Given the description of an element on the screen output the (x, y) to click on. 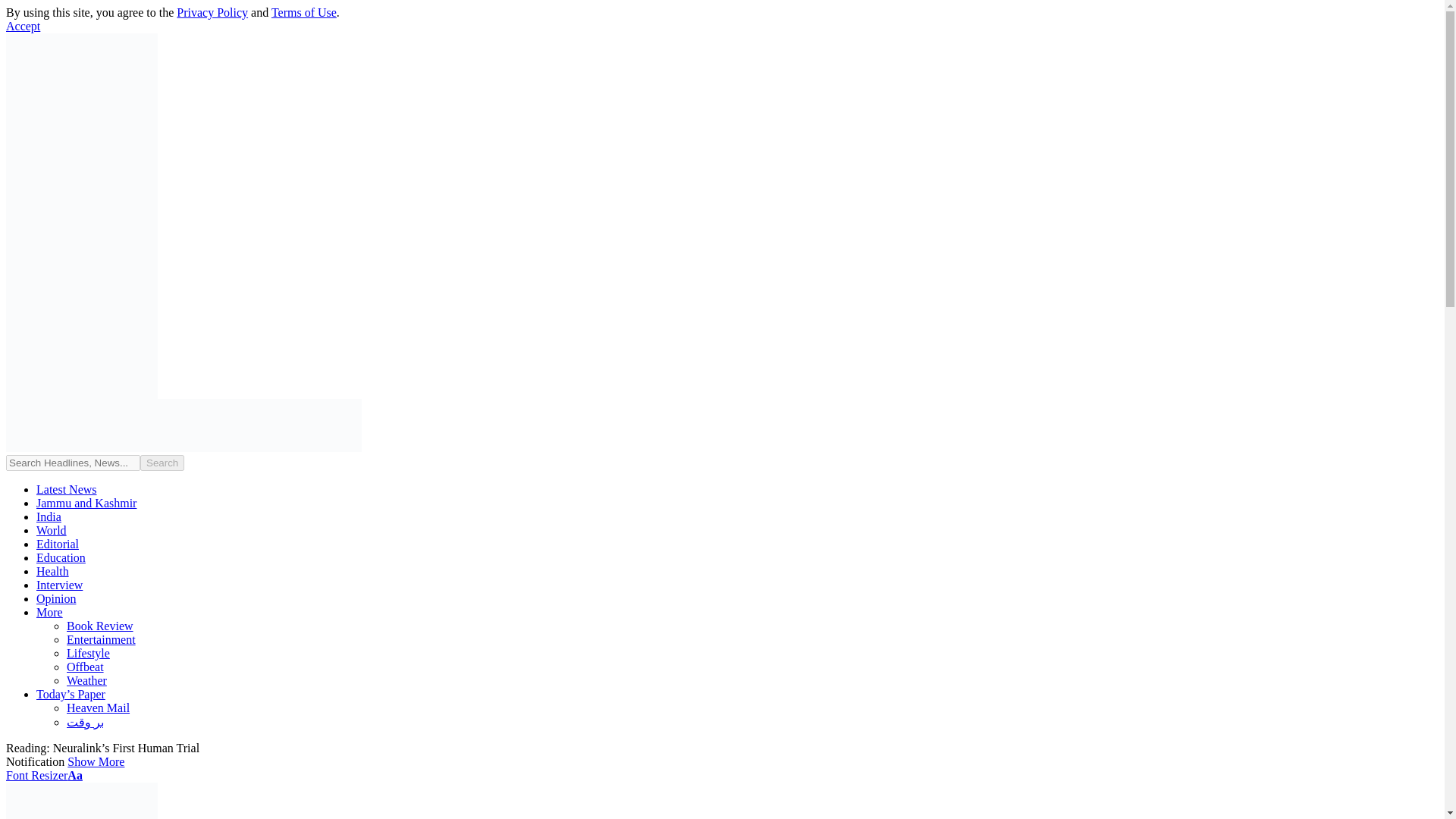
Health (52, 571)
Search (161, 462)
Privacy Policy (211, 11)
Editorial (57, 543)
Show More (94, 761)
World (51, 530)
India (48, 516)
Education (60, 557)
Search (161, 462)
Lifestyle (88, 653)
